Given the description of an element on the screen output the (x, y) to click on. 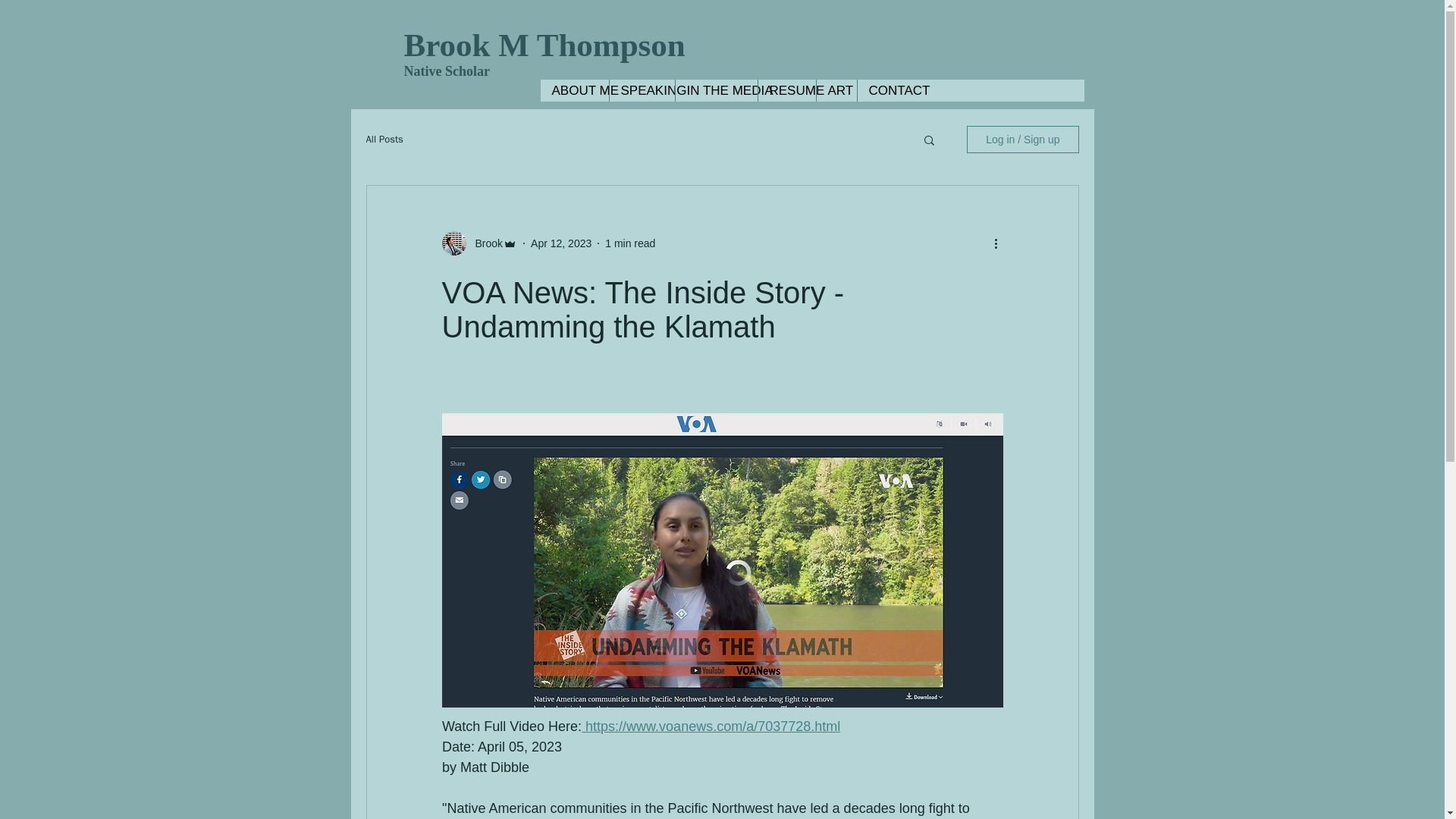
CONTACT (888, 90)
Native Scholar (446, 70)
Brook M Thompson (543, 45)
ABOUT ME (574, 90)
RESUME (786, 90)
1 min read (630, 242)
SPEAKING (641, 90)
ART (836, 90)
Apr 12, 2023 (561, 242)
IN THE MEDIA (716, 90)
All Posts (384, 139)
Brook (483, 242)
